Given the description of an element on the screen output the (x, y) to click on. 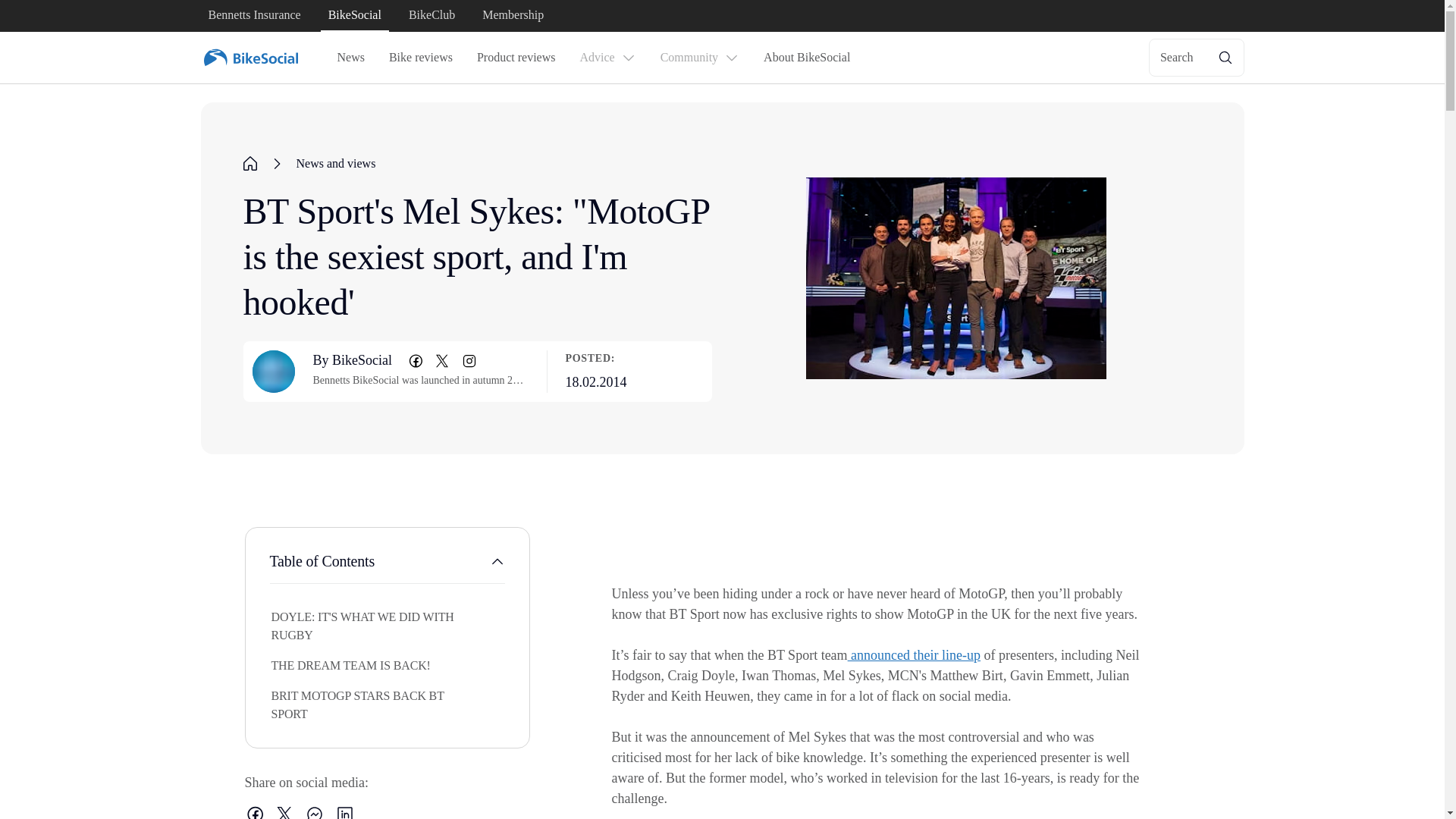
BikeSocial (354, 15)
THE DREAM TEAM IS BACK! (355, 665)
DOYLE: IT'S WHAT WE DID WITH RUGBY (355, 626)
About BikeSocial (806, 57)
Advice (607, 57)
Table of Contents (387, 567)
Product reviews (515, 57)
News and views (335, 163)
BRIT MOTOGP STARS BACK BT SPORT (355, 705)
Membership (512, 15)
